Given the description of an element on the screen output the (x, y) to click on. 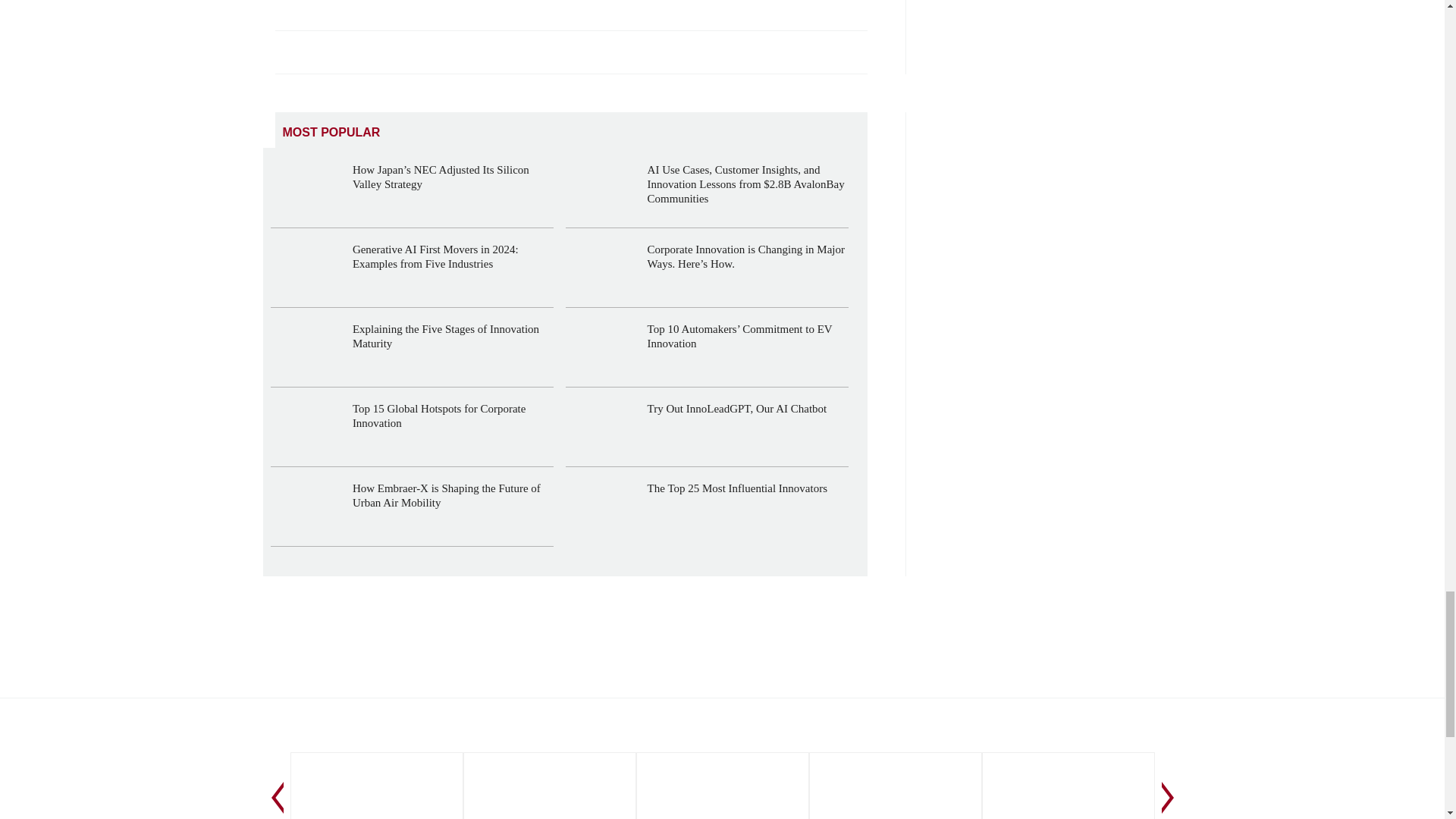
Email (392, 52)
Facebook (357, 52)
Twitter (322, 52)
LinkedIn (288, 52)
